Given the description of an element on the screen output the (x, y) to click on. 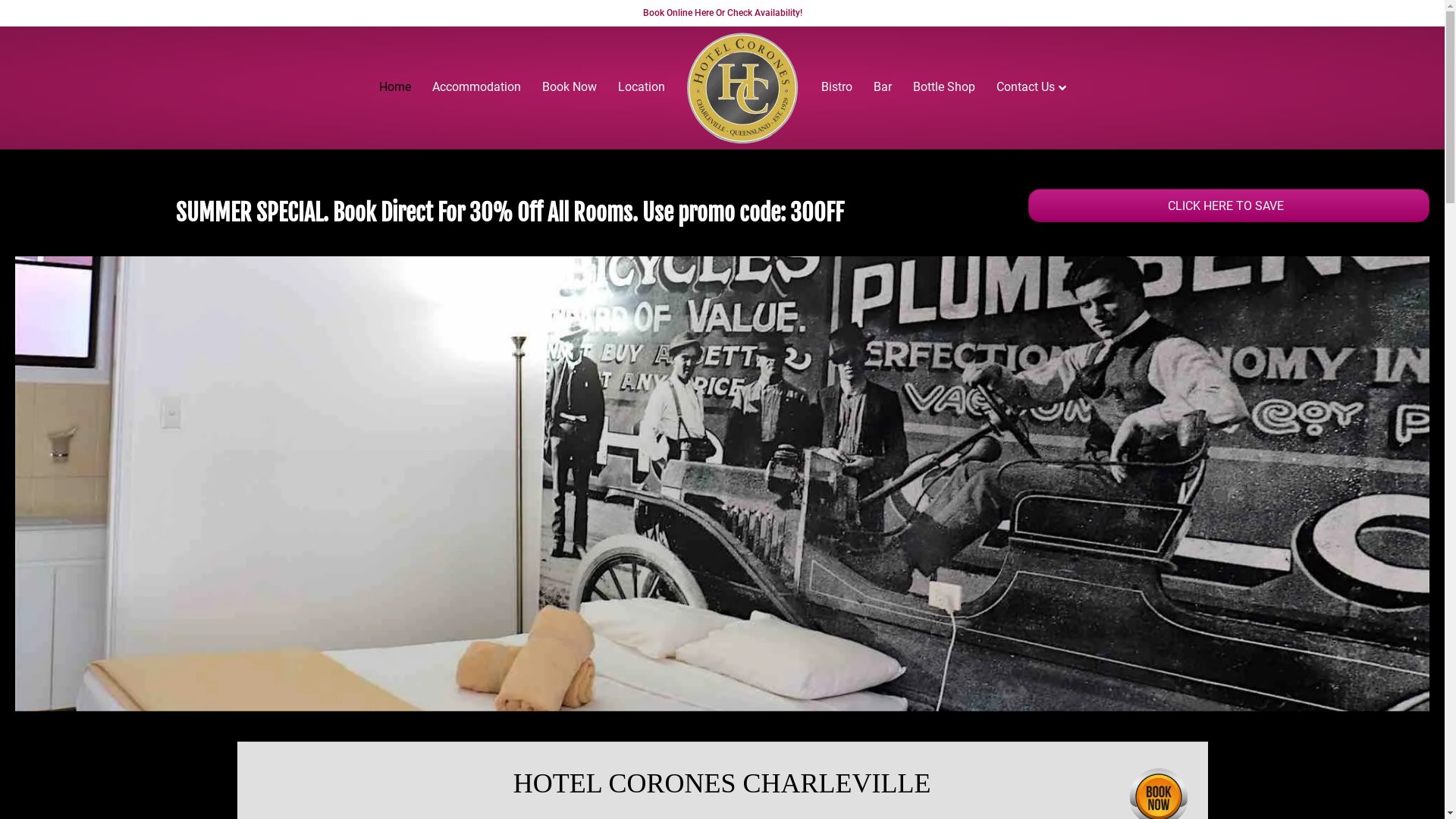
Location Element type: text (640, 86)
Bar Element type: text (882, 86)
Accommodation Element type: text (476, 86)
Bistro Element type: text (835, 86)
Contact Us Element type: text (1030, 87)
Bottle Shop Element type: text (943, 86)
CLICK HERE TO SAVE Element type: text (1229, 205)
Book Online Here Or Check Availability! Element type: text (722, 12)
Home Element type: text (394, 86)
Book Now Element type: text (568, 86)
